Given the description of an element on the screen output the (x, y) to click on. 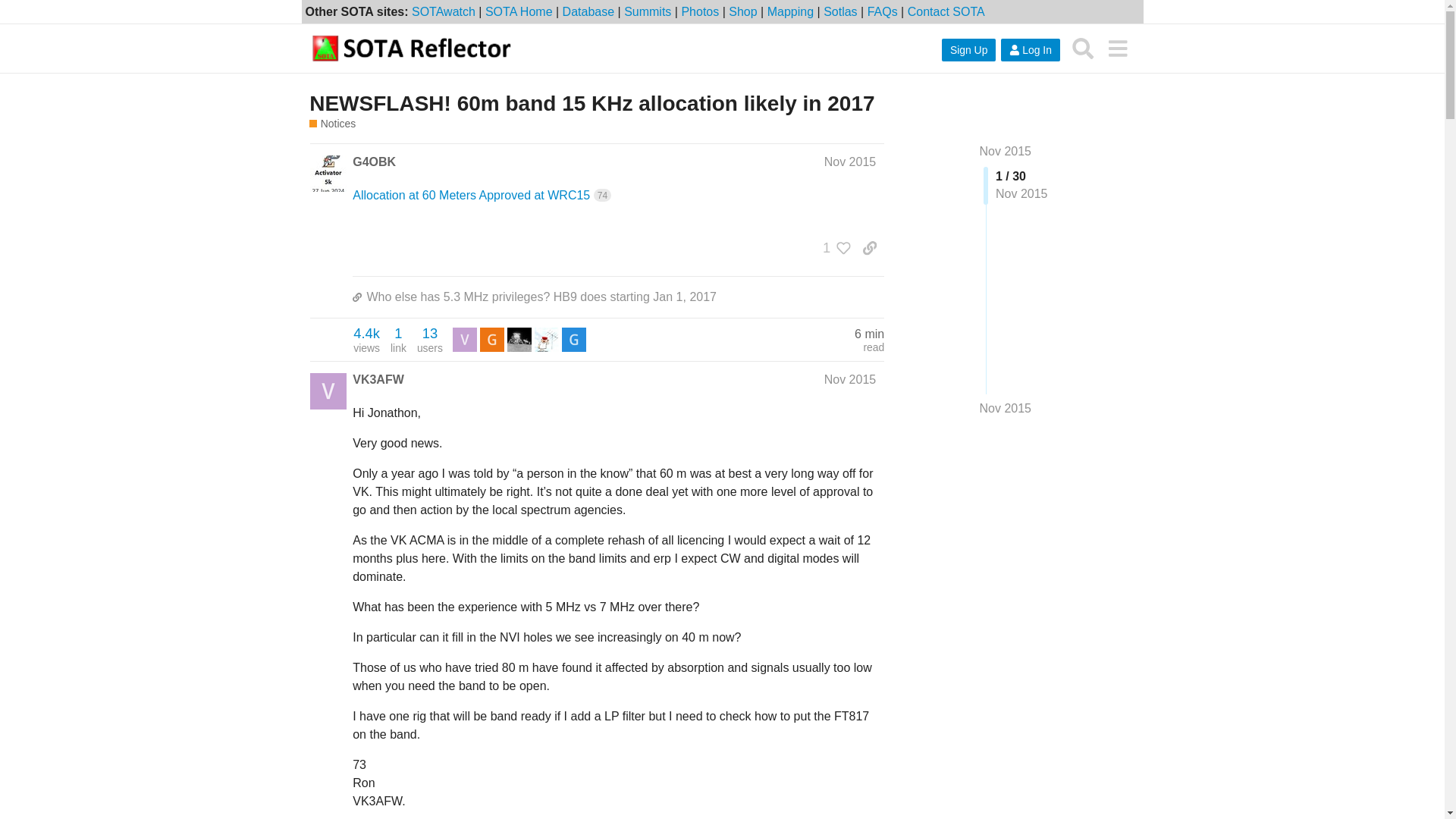
SOTA Home (518, 11)
brian carter (491, 339)
Allocation at 60 Meters Approved at WRC15 74 (481, 195)
For general notices for the SOTA Community (331, 124)
Nov 2015 (850, 379)
1 person liked this post (832, 248)
VK3AFW (464, 338)
Summits (430, 339)
G8ADD (647, 11)
